Given the description of an element on the screen output the (x, y) to click on. 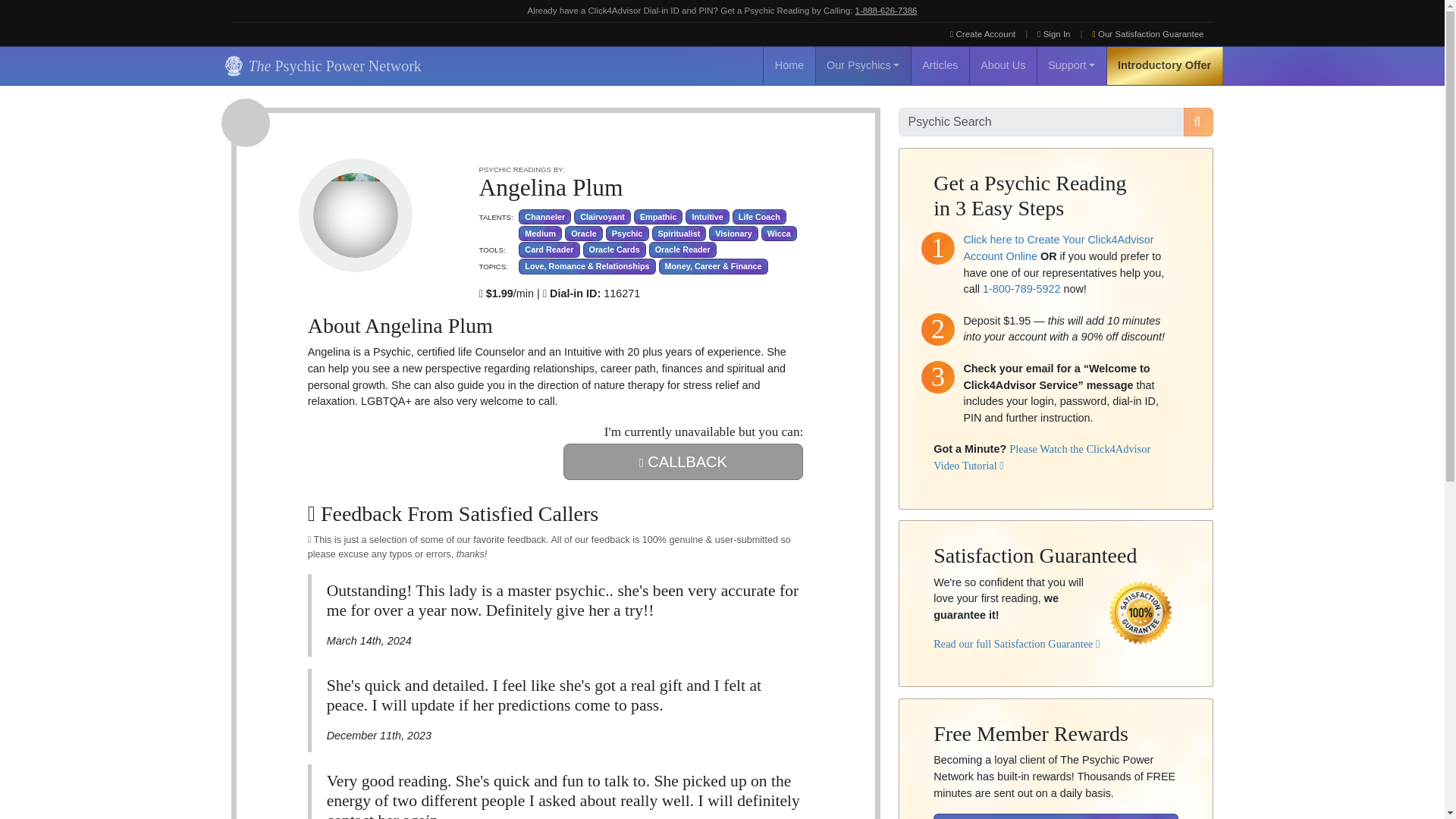
Our Psychics (863, 65)
About Us (1002, 65)
Our Satisfaction Guarantee (1148, 33)
Visionary (733, 233)
Empathic (657, 216)
Clairvoyant (601, 216)
Articles (940, 65)
Intuitive (707, 216)
The Psychic Power Network (320, 65)
Life Coach (759, 216)
Home (788, 65)
Spiritualist (679, 233)
Psychic (627, 233)
Create Account (982, 33)
Support (1071, 65)
